Given the description of an element on the screen output the (x, y) to click on. 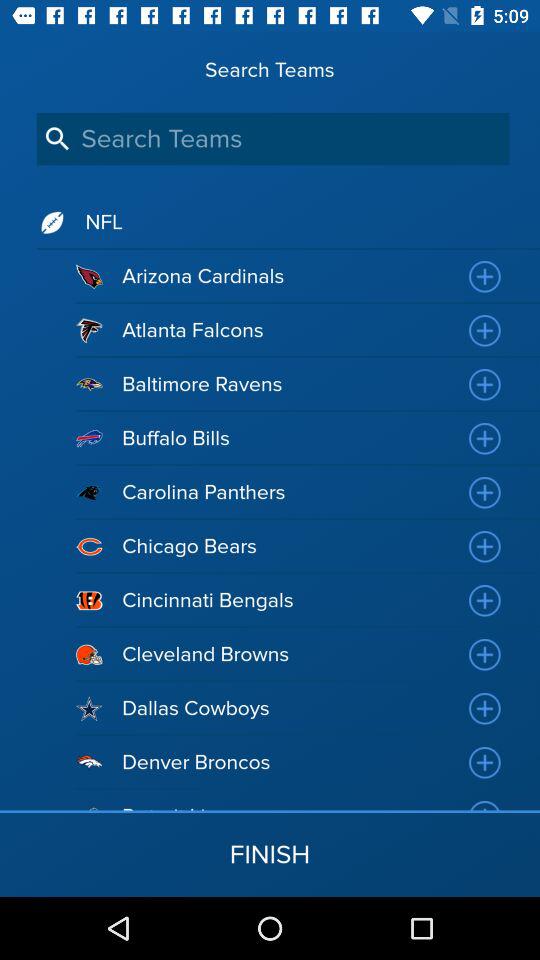
search (272, 138)
